Given the description of an element on the screen output the (x, y) to click on. 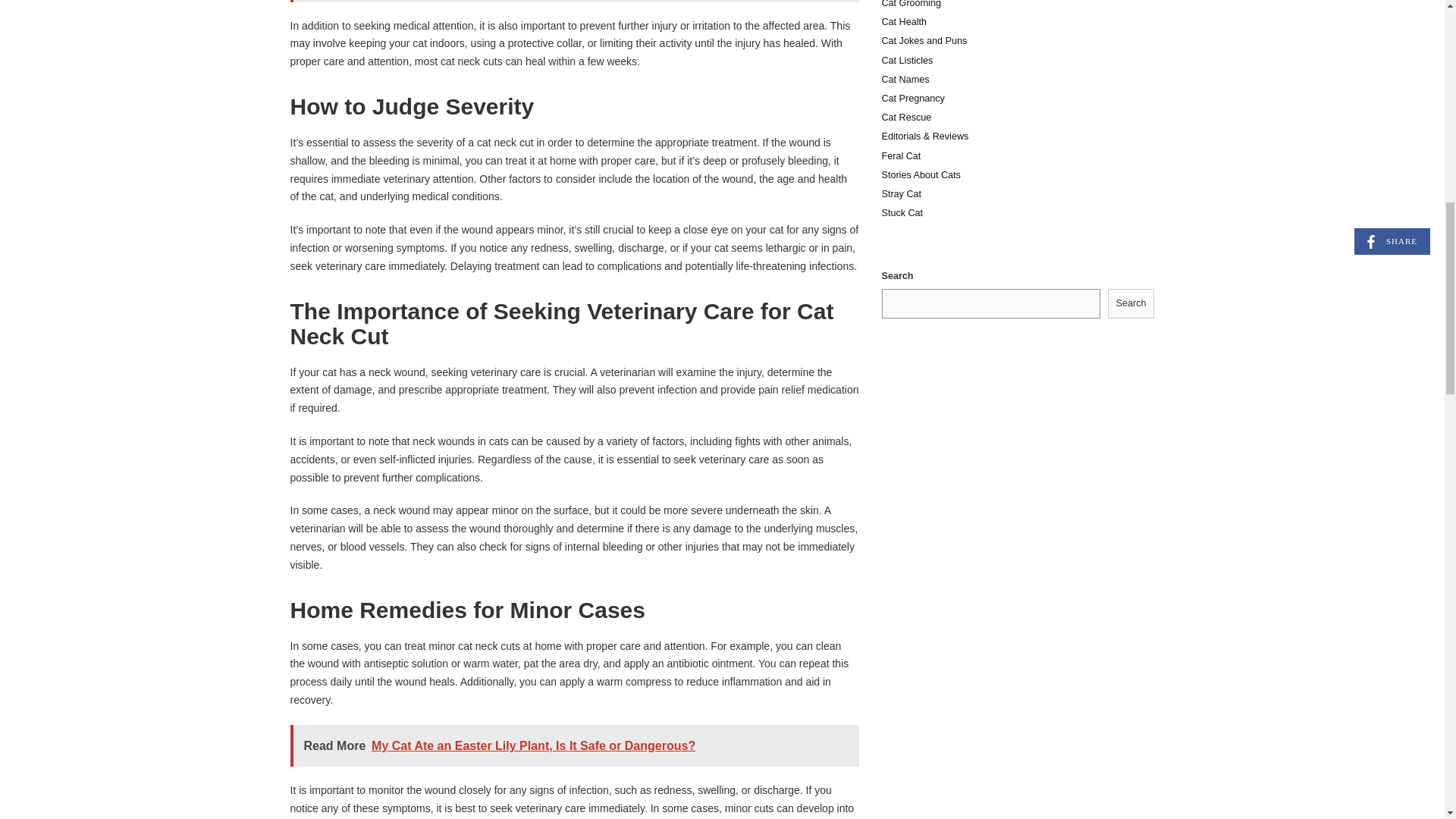
Cat Grooming (910, 4)
Cat Rescue (905, 117)
Search (1131, 303)
Cat Jokes and Puns (923, 40)
Feral Cat (900, 155)
Stray Cat (900, 194)
Stuck Cat (901, 213)
Cat Names (904, 79)
Cat Listicles (906, 60)
Cat Health (903, 21)
Stories About Cats (919, 174)
Cat Pregnancy (911, 98)
